Given the description of an element on the screen output the (x, y) to click on. 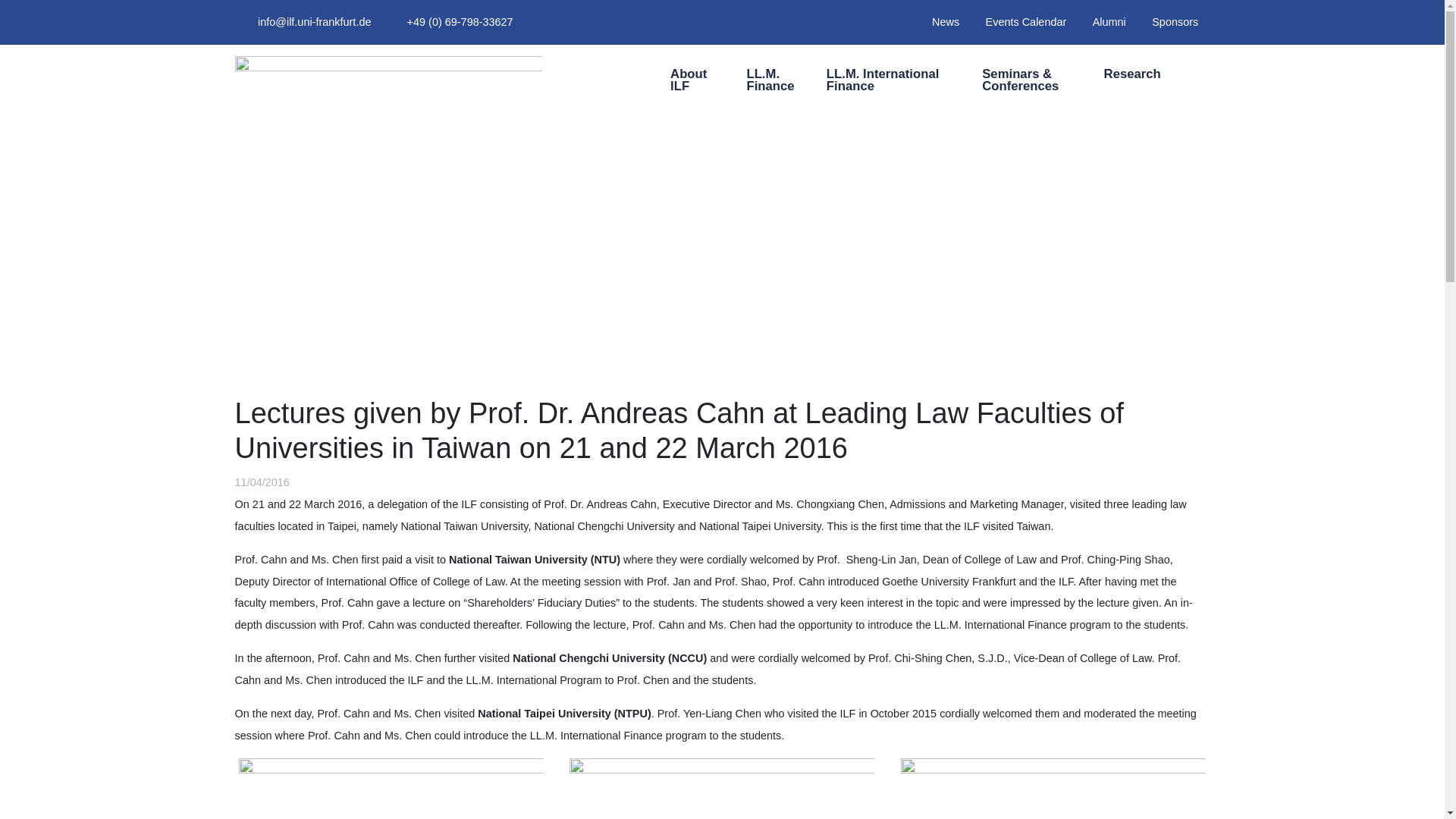
LL.M. International Finance (887, 82)
Research (1131, 75)
Sponsors (1174, 21)
About ILF (690, 82)
Sponsors (1174, 21)
Alumni (1109, 21)
News (945, 21)
News (945, 21)
About ILF (690, 82)
Events Calendar (1025, 21)
LL.M. International Finance (887, 82)
Alumni (1109, 21)
LL.M. Finance (769, 82)
Events Calendar (1025, 21)
LL.M. Finance (769, 82)
